Given the description of an element on the screen output the (x, y) to click on. 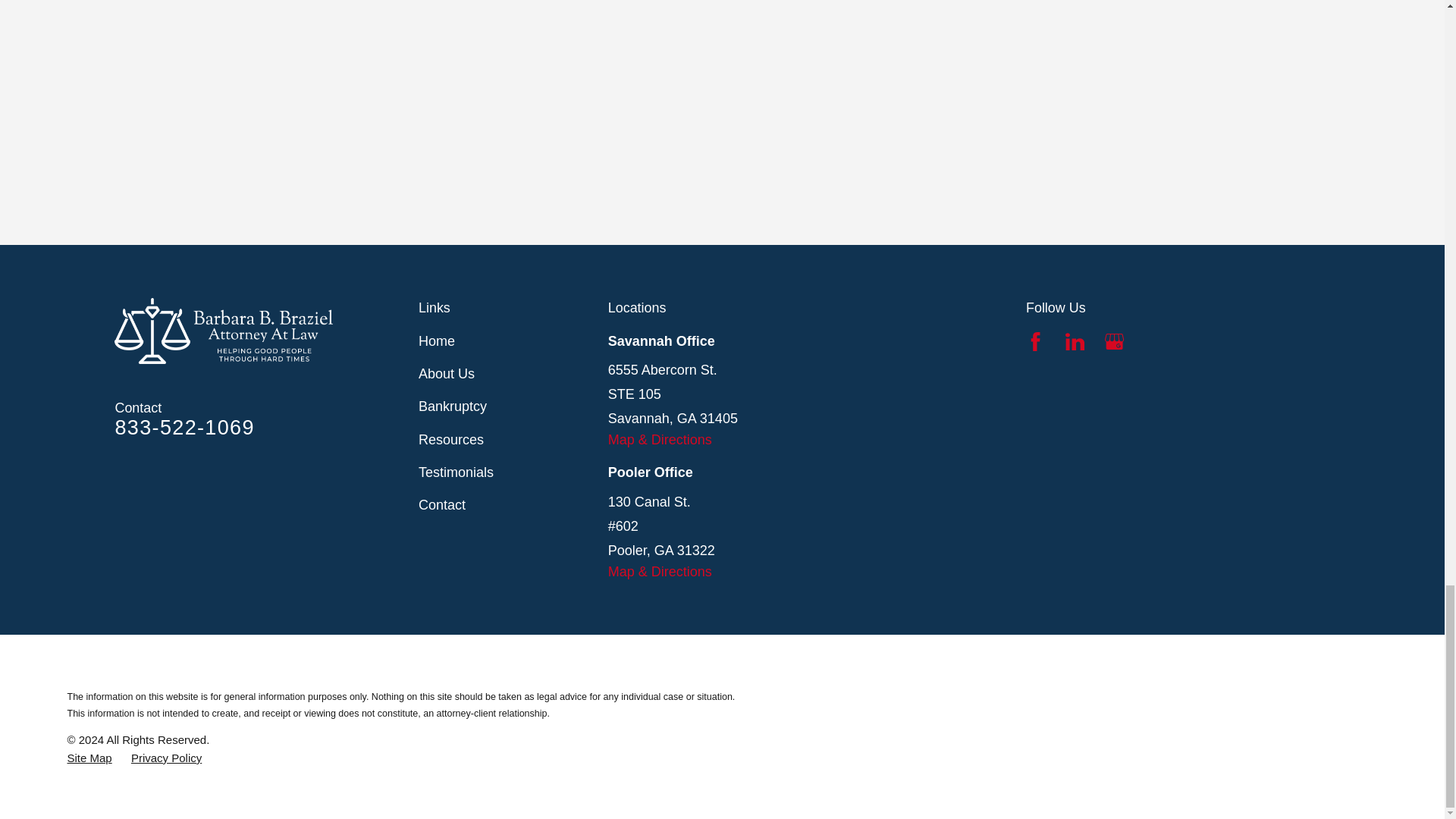
Home (267, 330)
Google Business Profile (1114, 341)
Barbara B. Braziel Attorney At Law (224, 330)
LinkedIn (1074, 341)
Facebook (1035, 341)
